Given the description of an element on the screen output the (x, y) to click on. 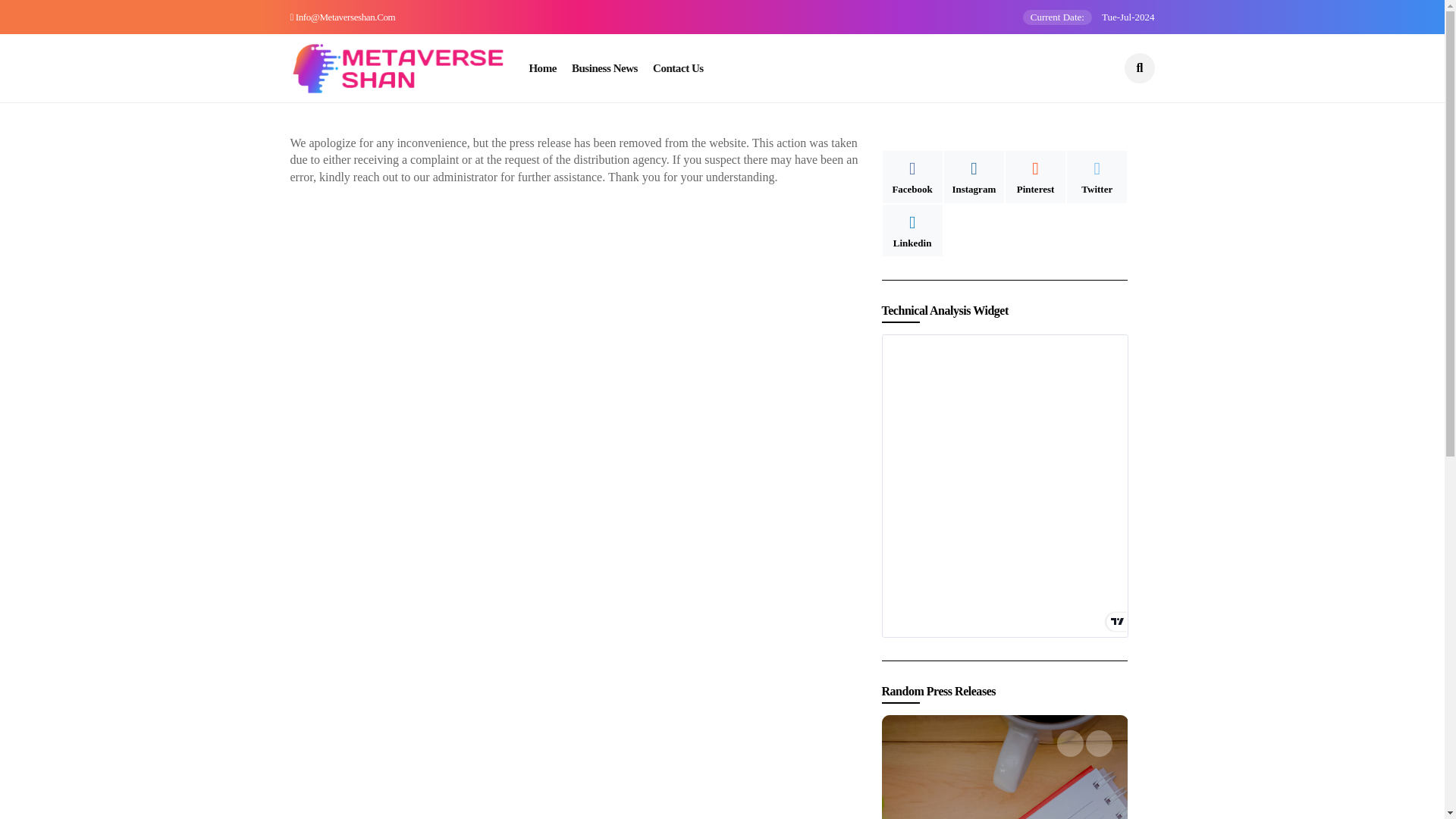
Business News (604, 68)
Contact Us (677, 68)
